Given the description of an element on the screen output the (x, y) to click on. 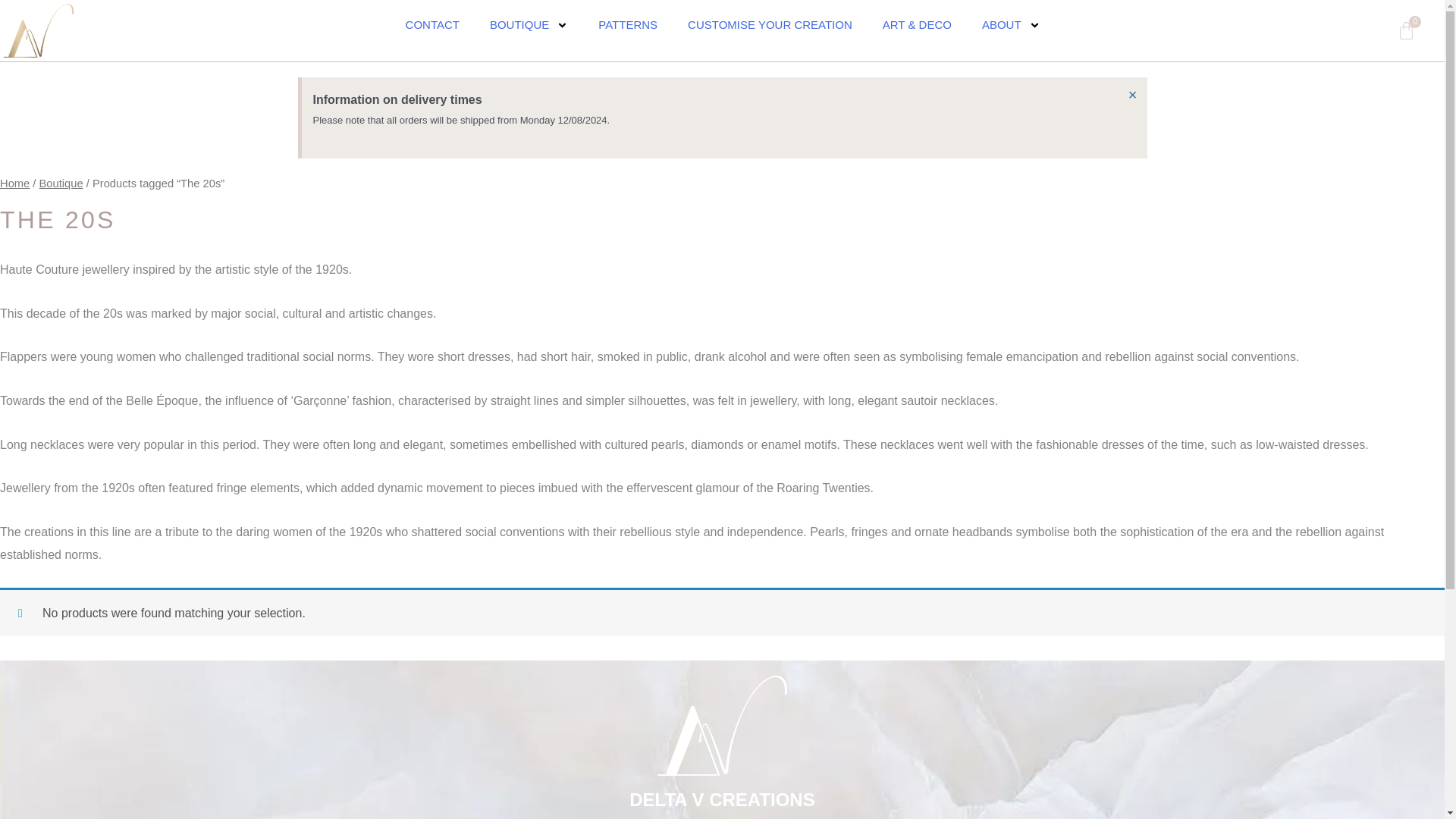
PATTERNS (627, 24)
CONTACT (1406, 30)
BOUTIQUE (432, 24)
CUSTOMISE YOUR CREATION (528, 24)
ABOUT (769, 24)
